Given the description of an element on the screen output the (x, y) to click on. 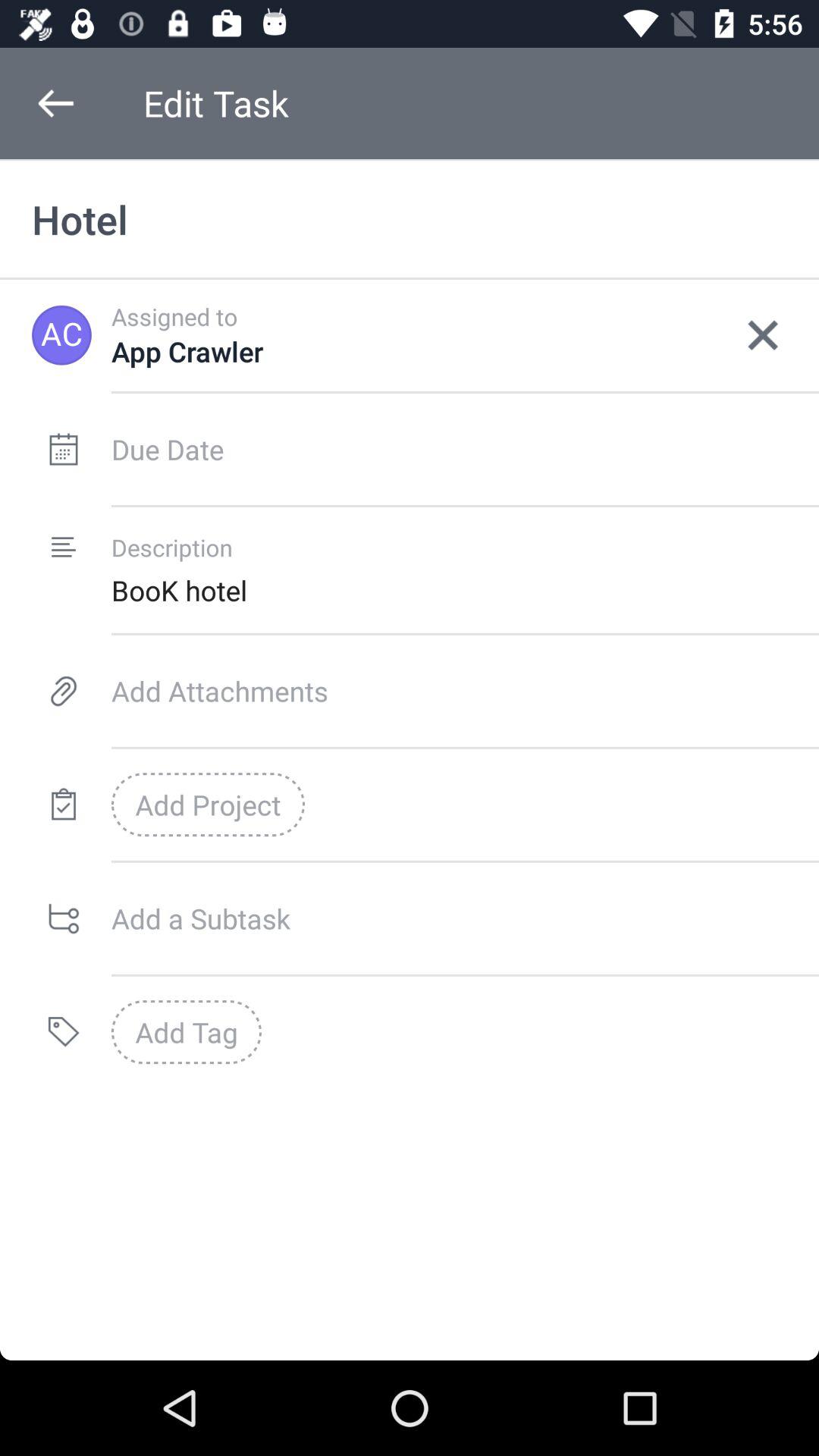
flip to the book hotel icon (465, 590)
